Given the description of an element on the screen output the (x, y) to click on. 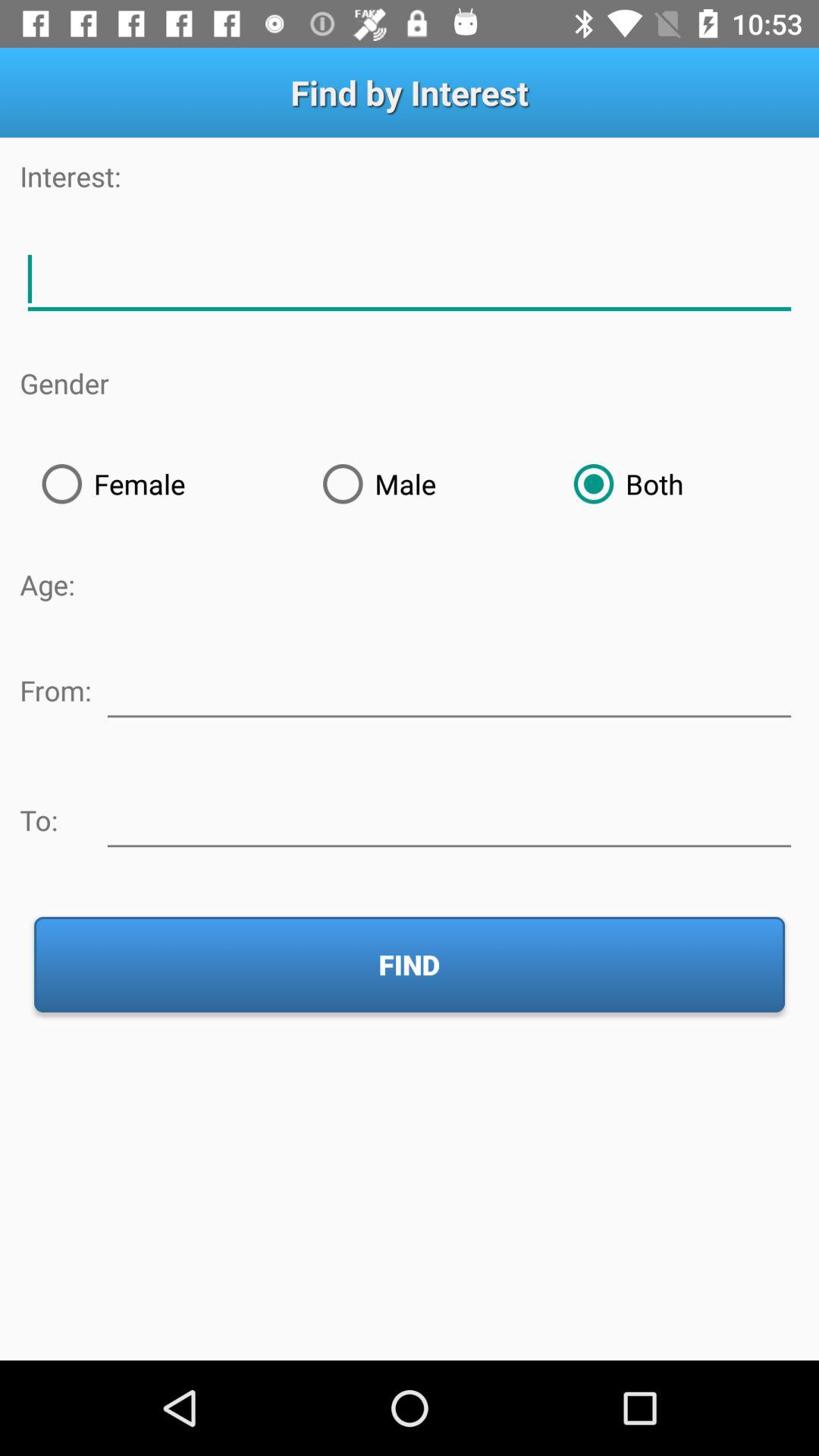
open app below the gender item (160, 483)
